Given the description of an element on the screen output the (x, y) to click on. 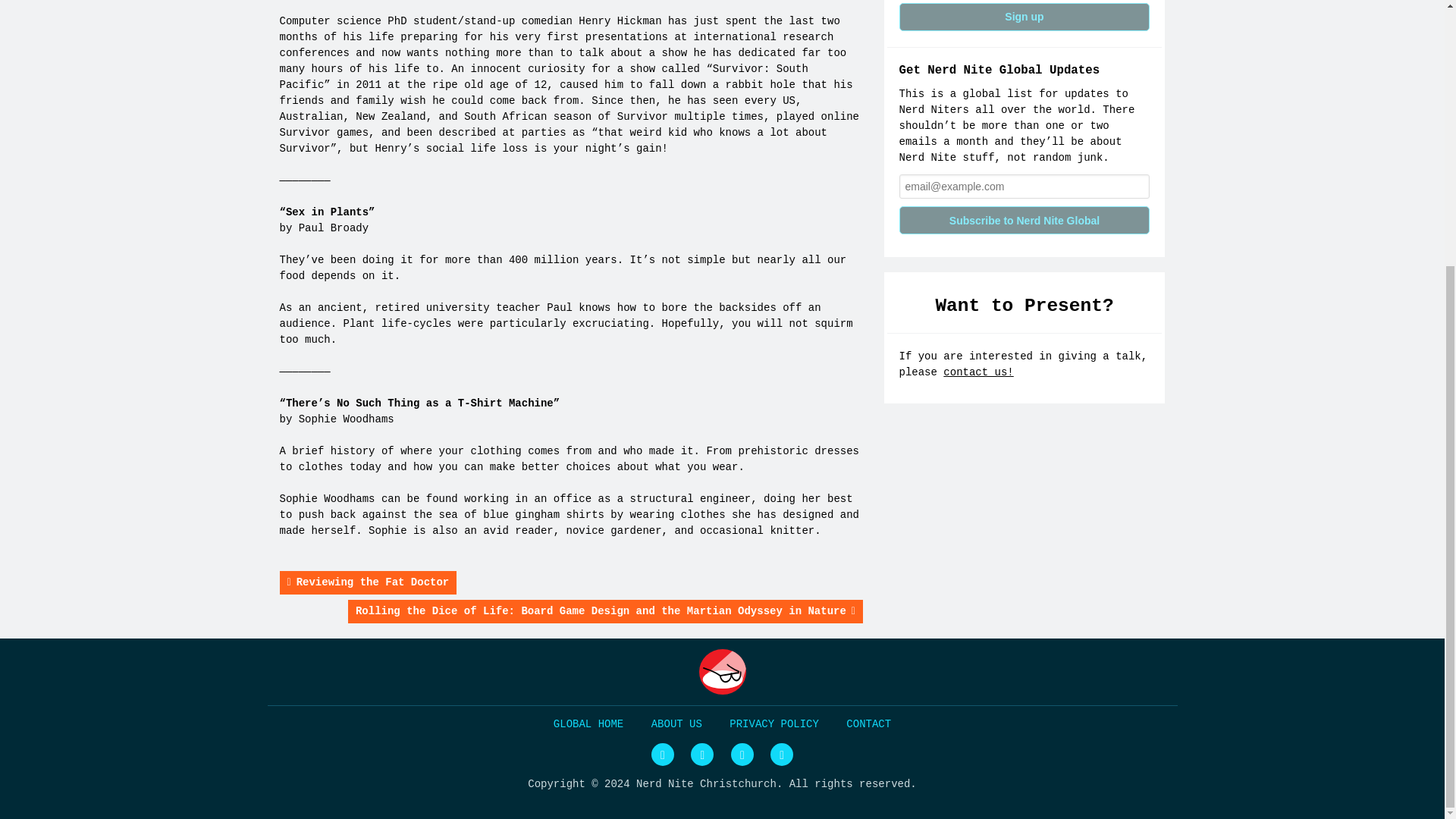
Sign up (1024, 17)
PRIVACY POLICY (774, 724)
Subscribe to Nerd Nite Global (1024, 220)
contact us! (978, 372)
HOME (588, 724)
Nerd Nite on Tiktok (781, 753)
Nerd Nite Global on Facebook (701, 753)
Reviewing the Fat Doctor (368, 582)
ABOUT US (676, 724)
